Given the description of an element on the screen output the (x, y) to click on. 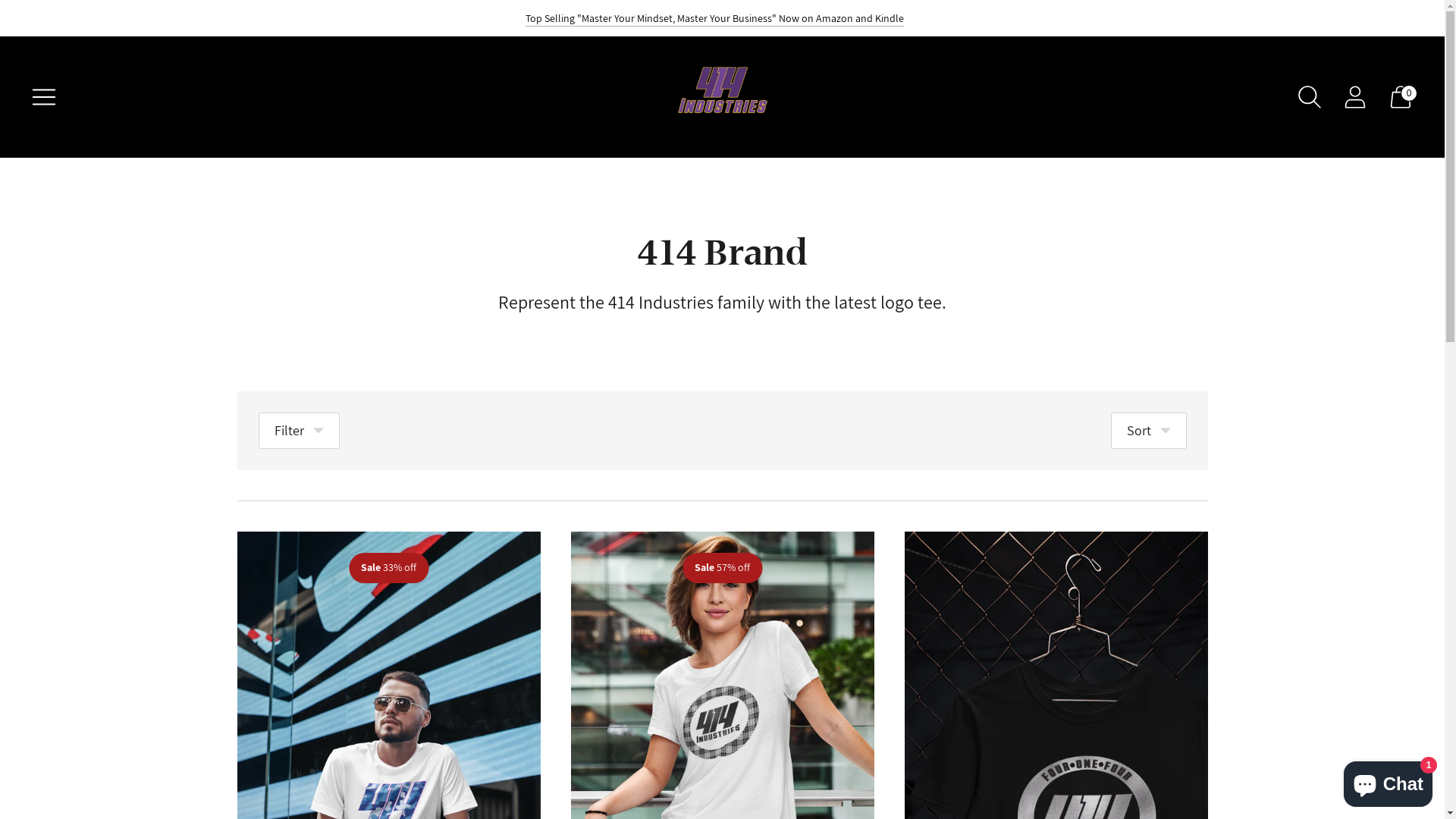
0 Element type: text (1400, 96)
Filter Element type: text (297, 430)
Sort Element type: text (1148, 430)
Shopify online store chat Element type: hover (1388, 780)
